Given the description of an element on the screen output the (x, y) to click on. 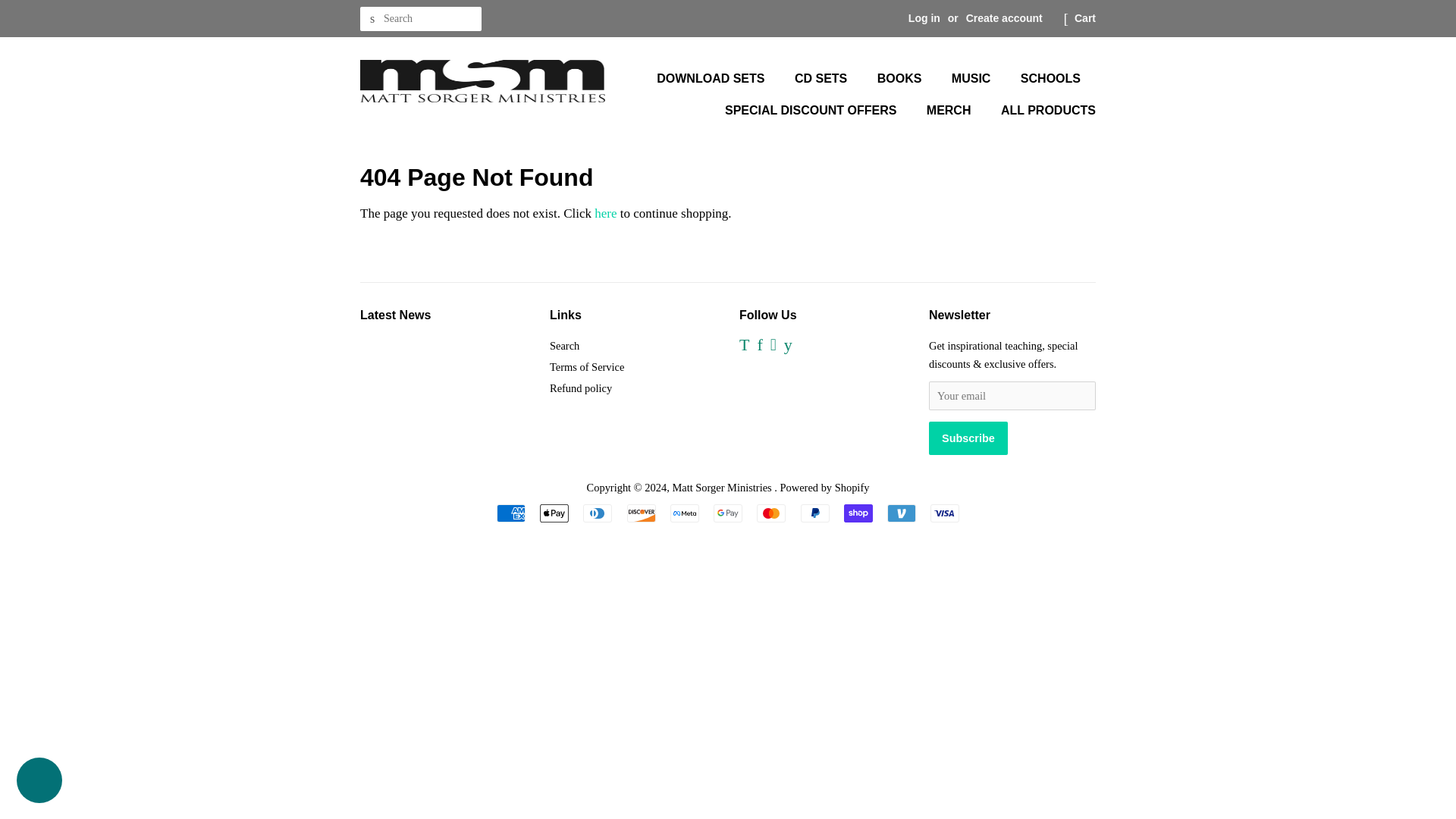
Meta Pay (683, 513)
Subscribe (967, 438)
DOWNLOAD SETS (717, 78)
PayPal (814, 513)
Create account (1004, 18)
Discover (640, 513)
SPECIAL DISCOUNT OFFERS (812, 110)
here (604, 213)
Search (371, 18)
Diners Club (597, 513)
Google Pay (727, 513)
BOOKS (901, 78)
Apple Pay (554, 513)
Search (564, 345)
Subscribe (967, 438)
